Given the description of an element on the screen output the (x, y) to click on. 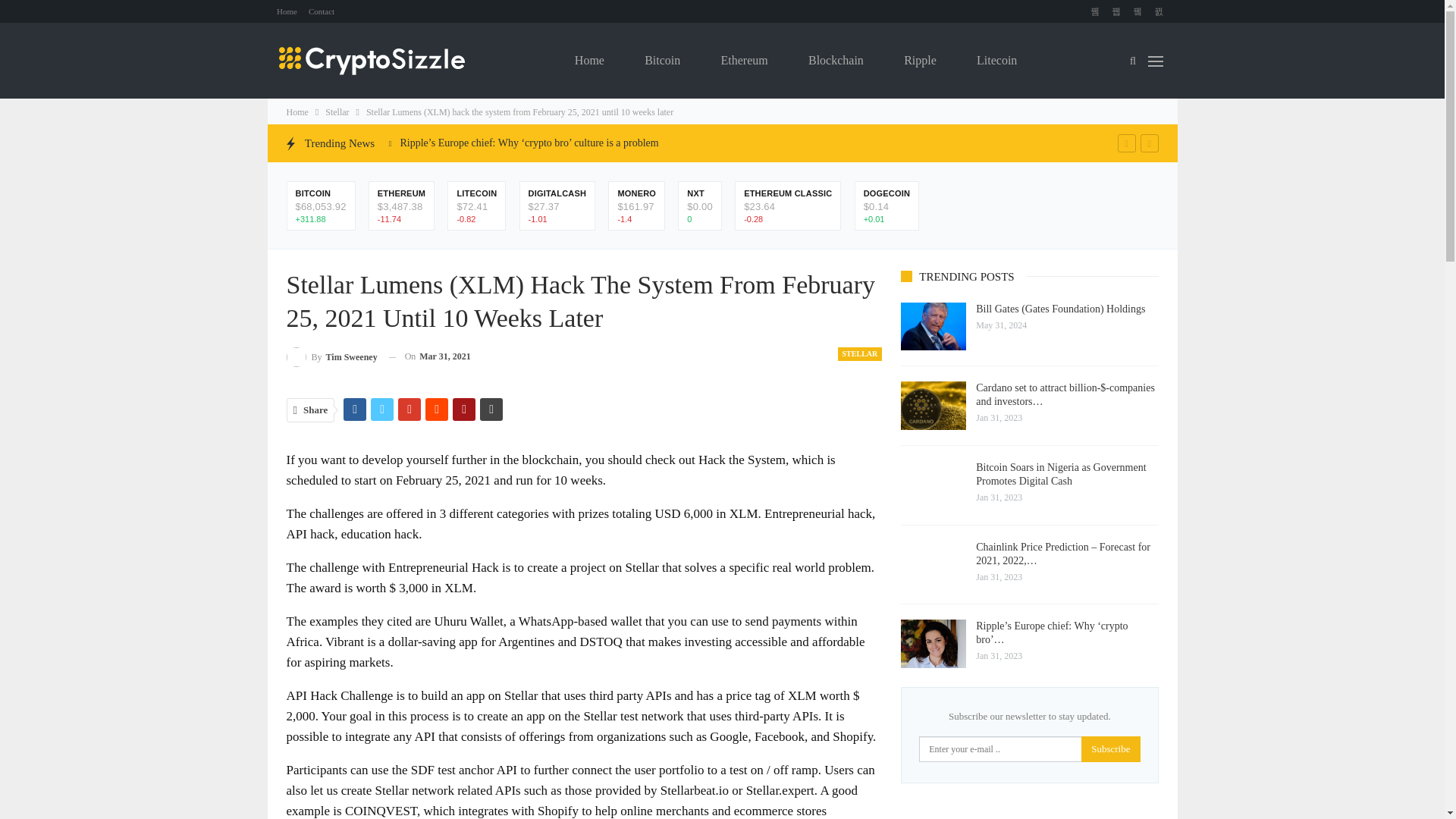
DASH (557, 194)
Home (286, 10)
Home (297, 112)
BTC (320, 194)
Browse Author Articles (331, 356)
ETC (787, 194)
Blockchain (835, 60)
XMR (636, 194)
LTC (476, 194)
Bitcoin (662, 60)
Home (589, 60)
Ripple (920, 60)
DOGE (887, 194)
ETH (401, 194)
Contact (321, 10)
